Given the description of an element on the screen output the (x, y) to click on. 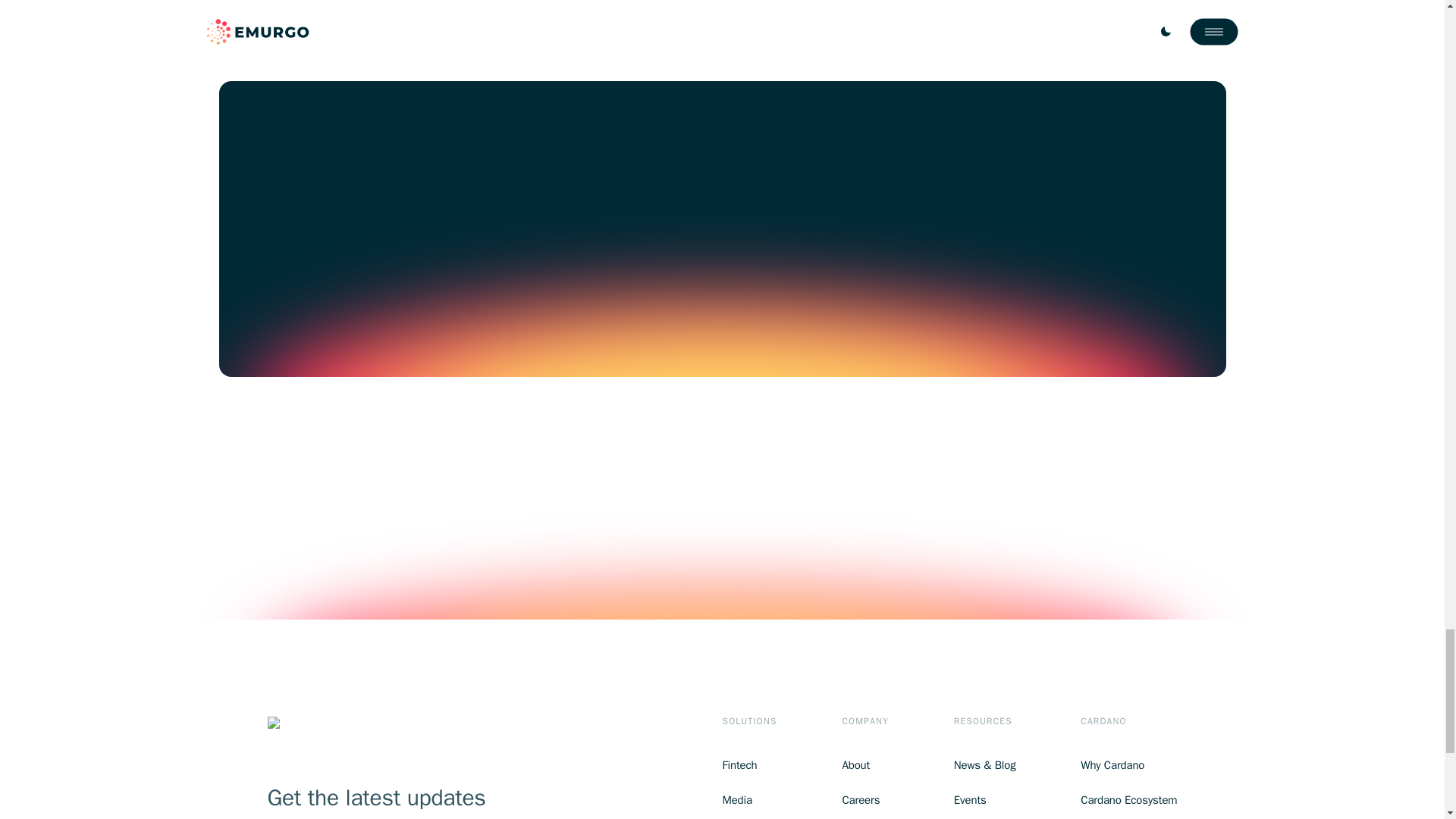
About (864, 764)
Media (749, 800)
Careers (864, 800)
Fintech (749, 764)
